Given the description of an element on the screen output the (x, y) to click on. 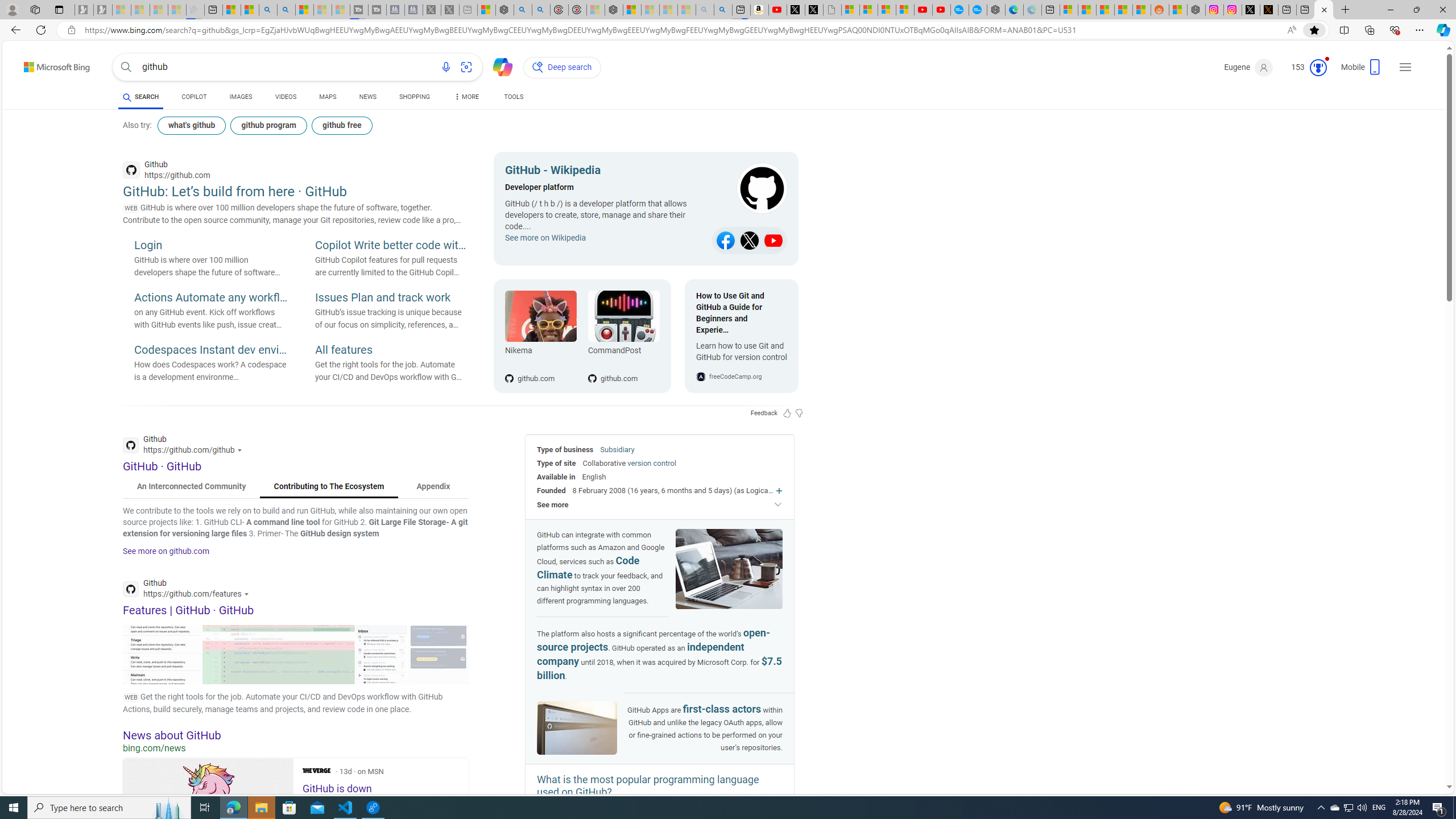
MORE (465, 98)
All features (391, 350)
github free (341, 125)
MAPS (327, 96)
Type of site (556, 462)
Search more (1423, 753)
New split screen (741, 9)
Github (188, 589)
Newsletter Sign Up - Sleeping (102, 9)
github free (341, 125)
